Given the description of an element on the screen output the (x, y) to click on. 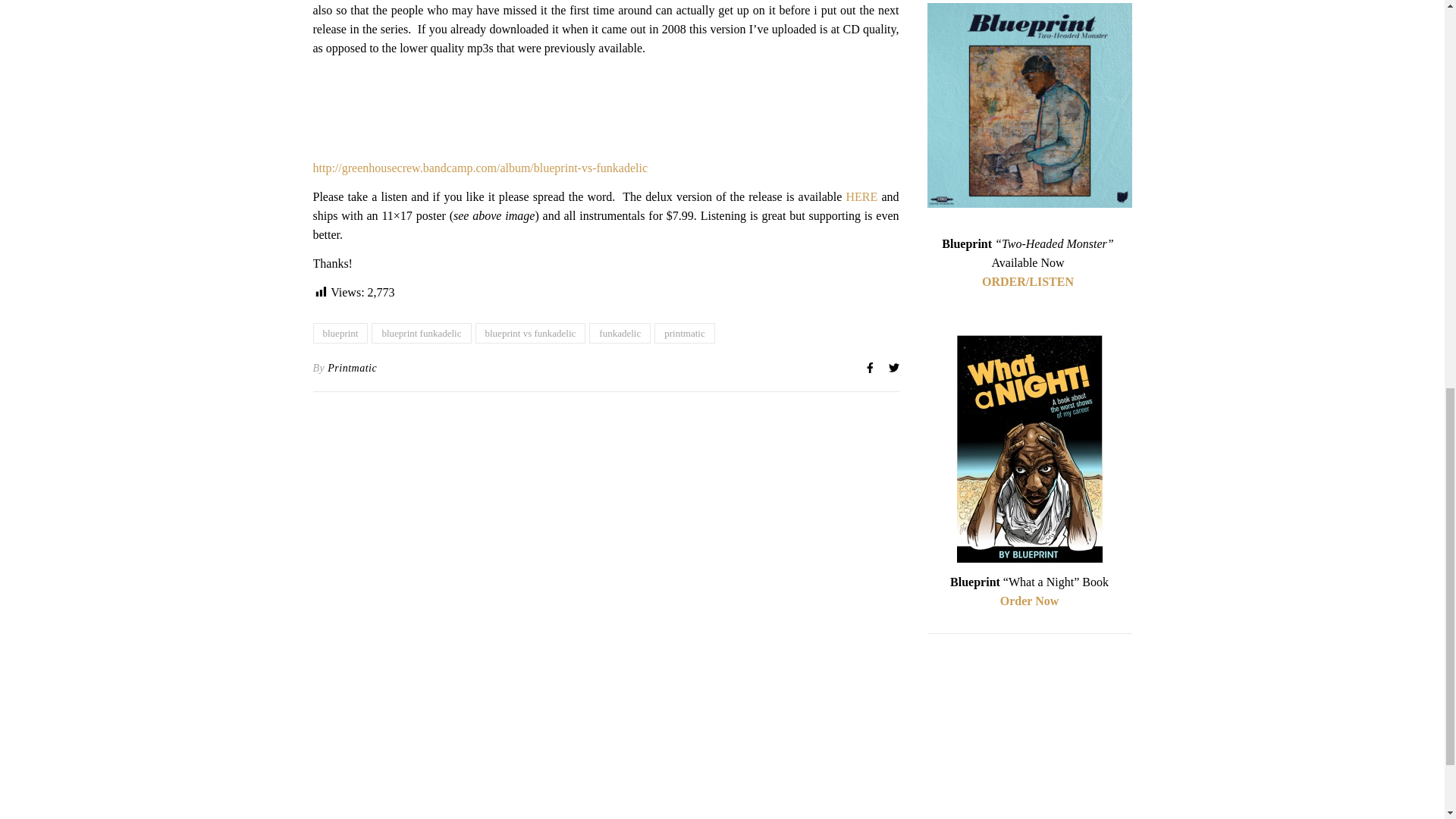
printmatic (683, 332)
HERE (861, 196)
blueprint (340, 332)
Posts by Printmatic (352, 368)
funkadelic (619, 332)
blueprint vs funkadelic (529, 332)
Printmatic (352, 368)
blueprint funkadelic (420, 332)
